Given the description of an element on the screen output the (x, y) to click on. 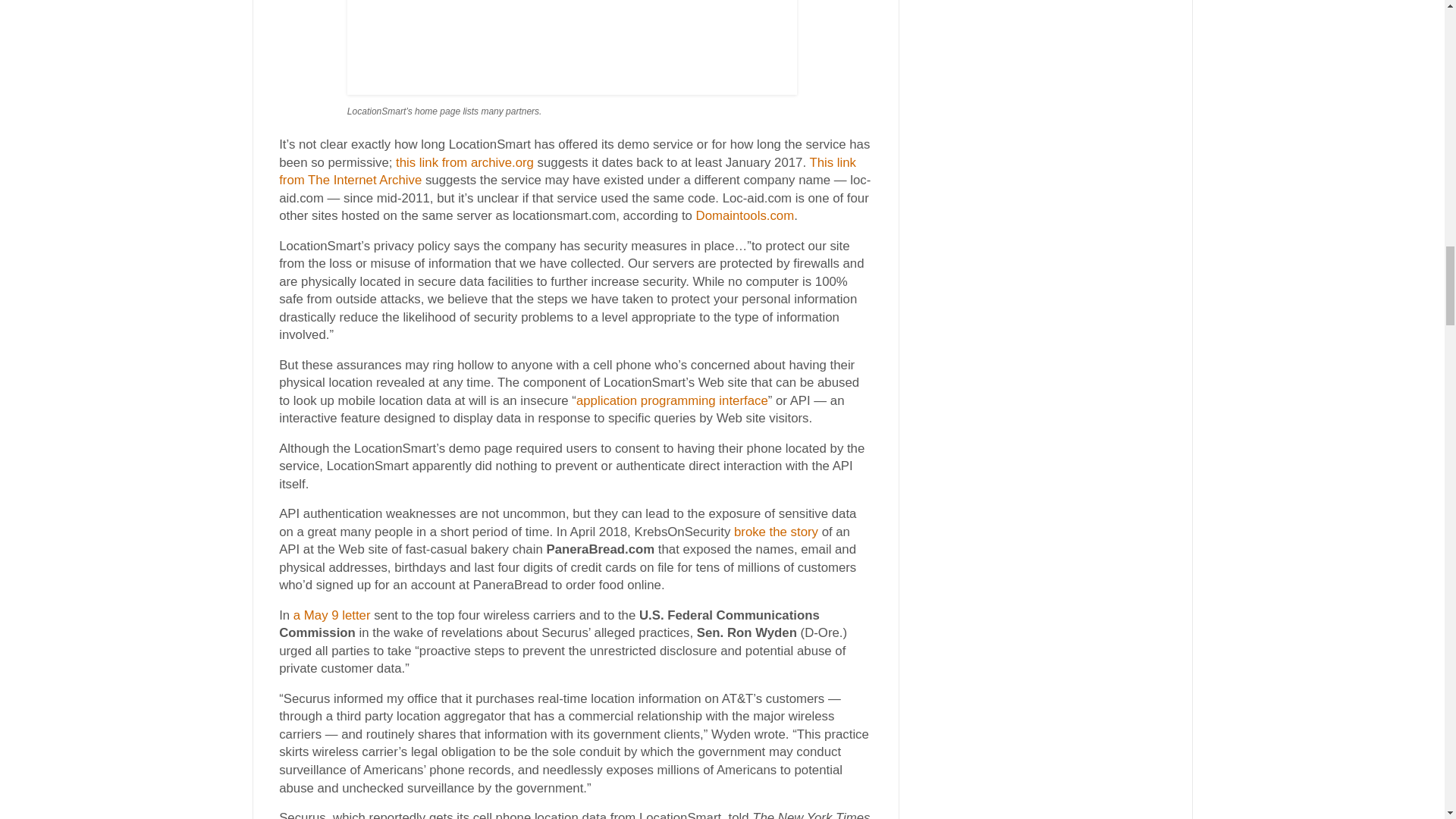
application programming interface (672, 400)
a May 9 letter (332, 615)
This link from The Internet Archive (567, 171)
this link from archive.org (465, 162)
broke the story (775, 531)
Domaintools.com (744, 215)
